Given the description of an element on the screen output the (x, y) to click on. 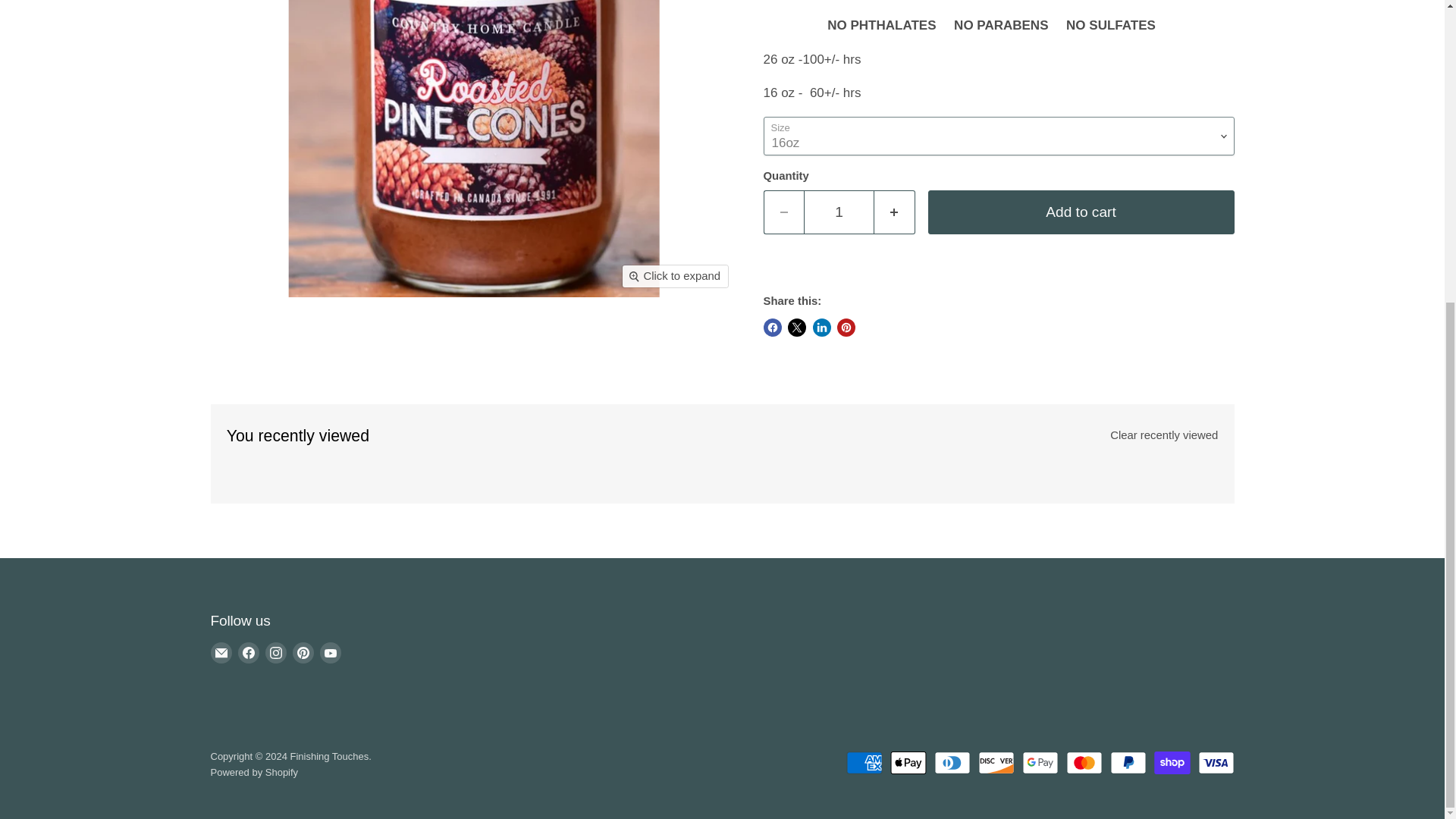
Facebook (248, 652)
Pinterest (303, 652)
Instagram (275, 652)
1 (839, 212)
Email (221, 652)
YouTube (330, 652)
